Given the description of an element on the screen output the (x, y) to click on. 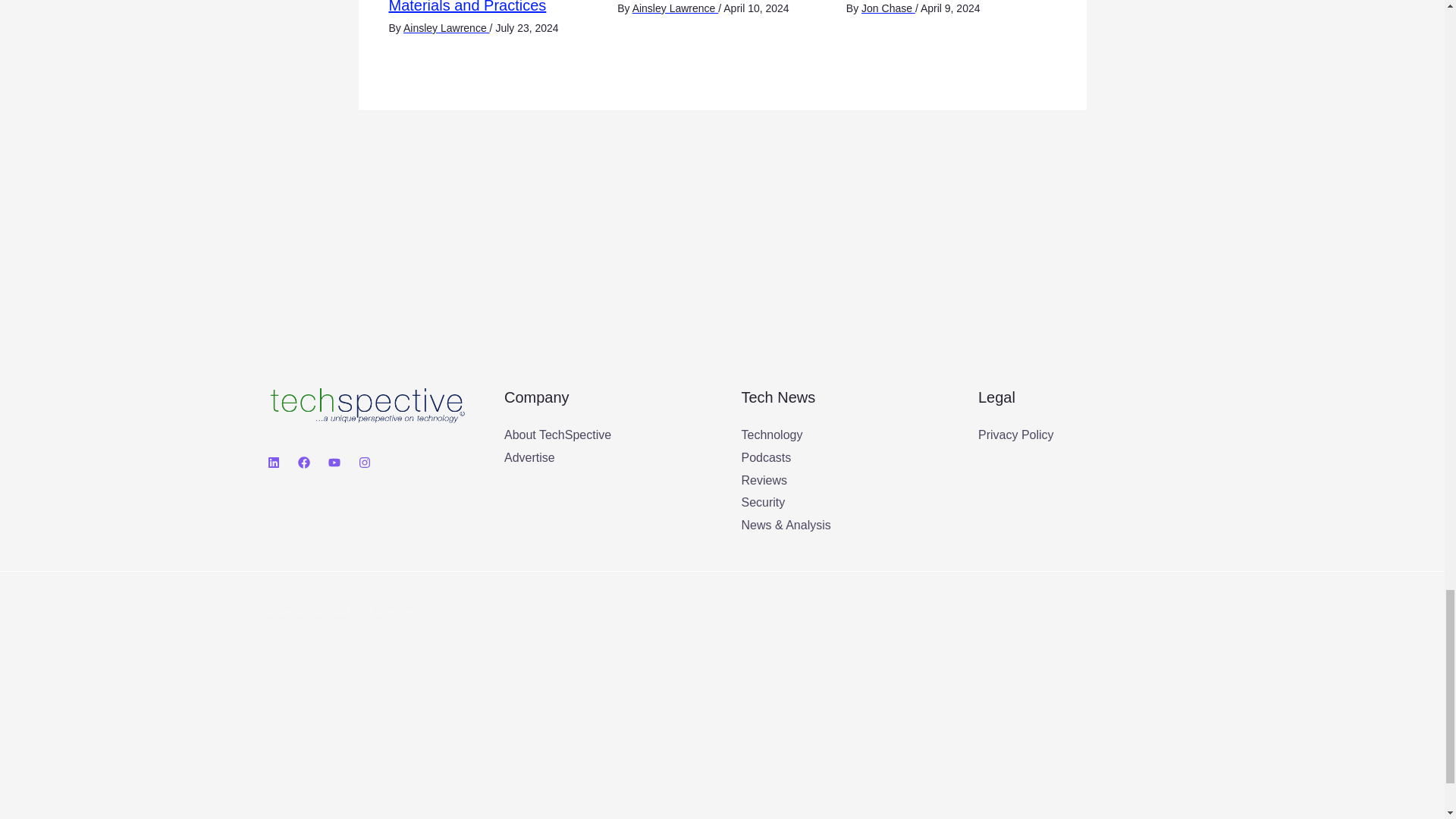
View all posts by Jon Chase (888, 8)
View all posts by Ainsley Lawrence (675, 8)
View all posts by Ainsley Lawrence (446, 28)
